Given the description of an element on the screen output the (x, y) to click on. 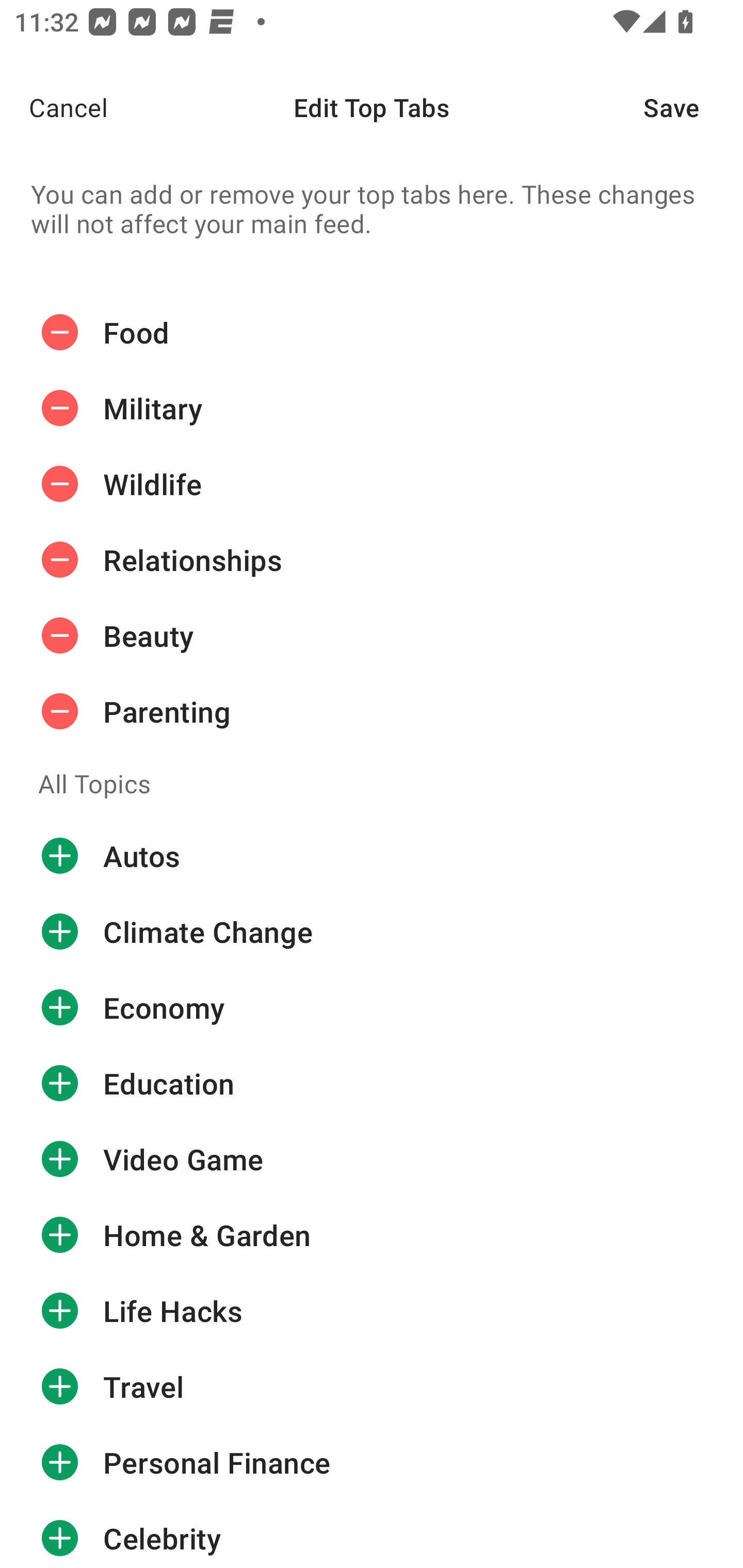
Cancel (53, 106)
Save (693, 106)
Food (371, 332)
Military (371, 408)
Wildlife (371, 484)
Relationships (371, 559)
Beauty (371, 635)
Parenting (371, 711)
Autos (371, 855)
Climate Change (371, 931)
Economy (371, 1007)
Education (371, 1083)
Video Game (371, 1158)
Home & Garden (371, 1234)
Life Hacks (371, 1310)
Travel (371, 1386)
Personal Finance (371, 1462)
Celebrity (371, 1534)
